Given the description of an element on the screen output the (x, y) to click on. 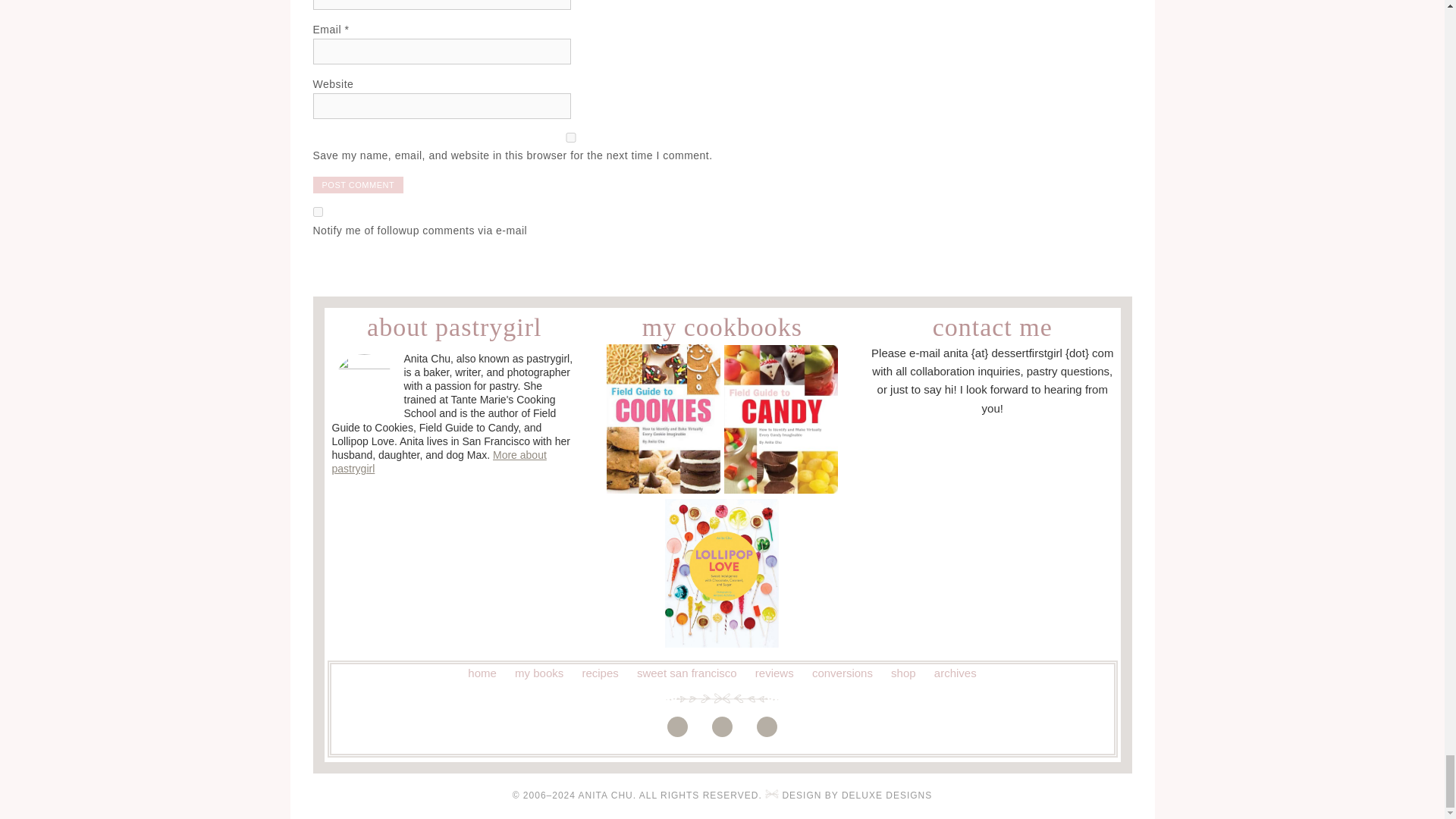
yes (570, 137)
Post Comment (358, 184)
subscribe (317, 212)
